Given the description of an element on the screen output the (x, y) to click on. 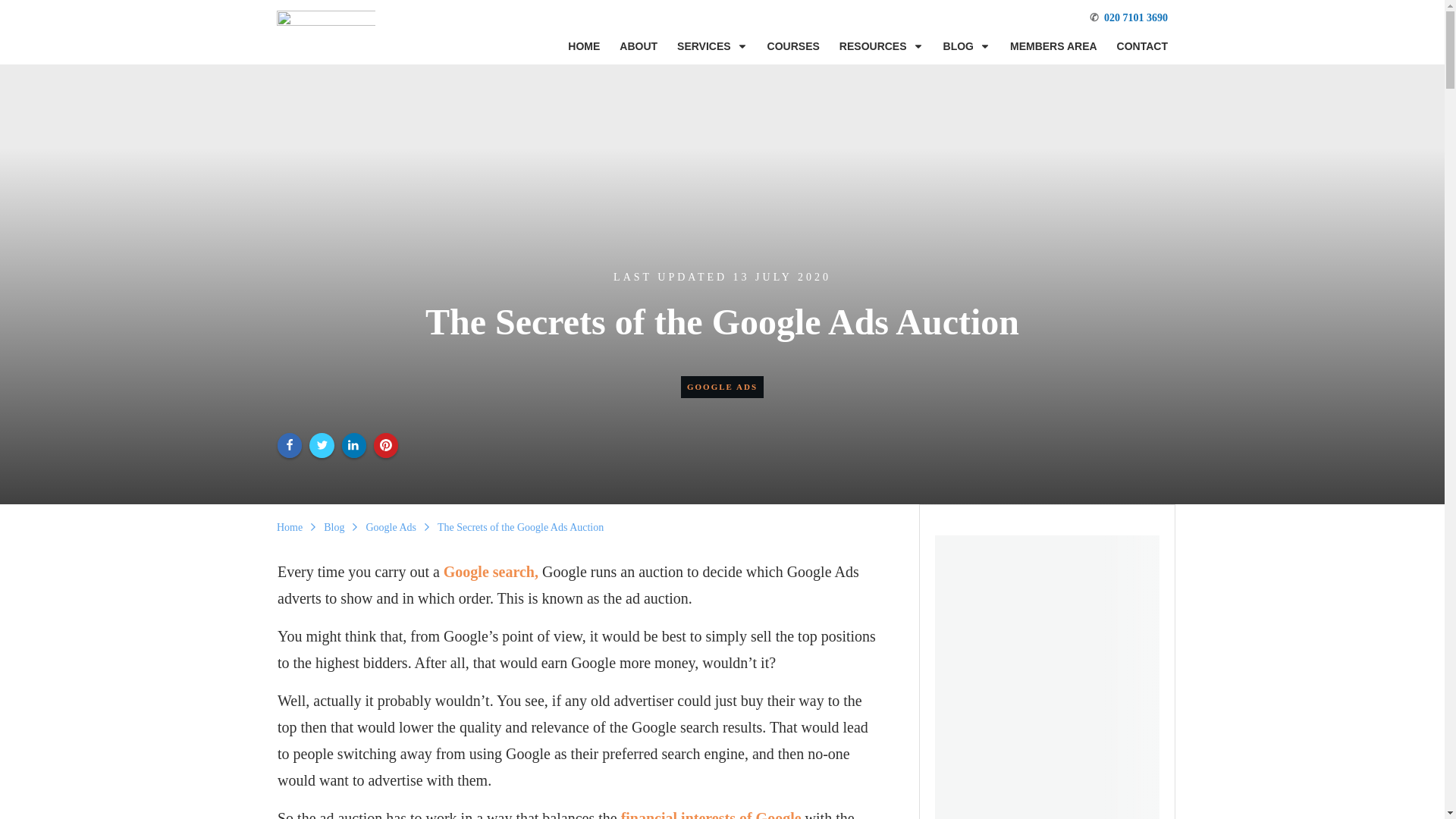
BLOG (966, 45)
SERVICES (712, 45)
MEMBERS AREA (1053, 45)
Google Ads (390, 526)
Blog (333, 526)
COURSES (793, 45)
RESOURCES (881, 45)
Google search, (491, 570)
Home (289, 526)
GOOGLE ADS (722, 386)
